Given the description of an element on the screen output the (x, y) to click on. 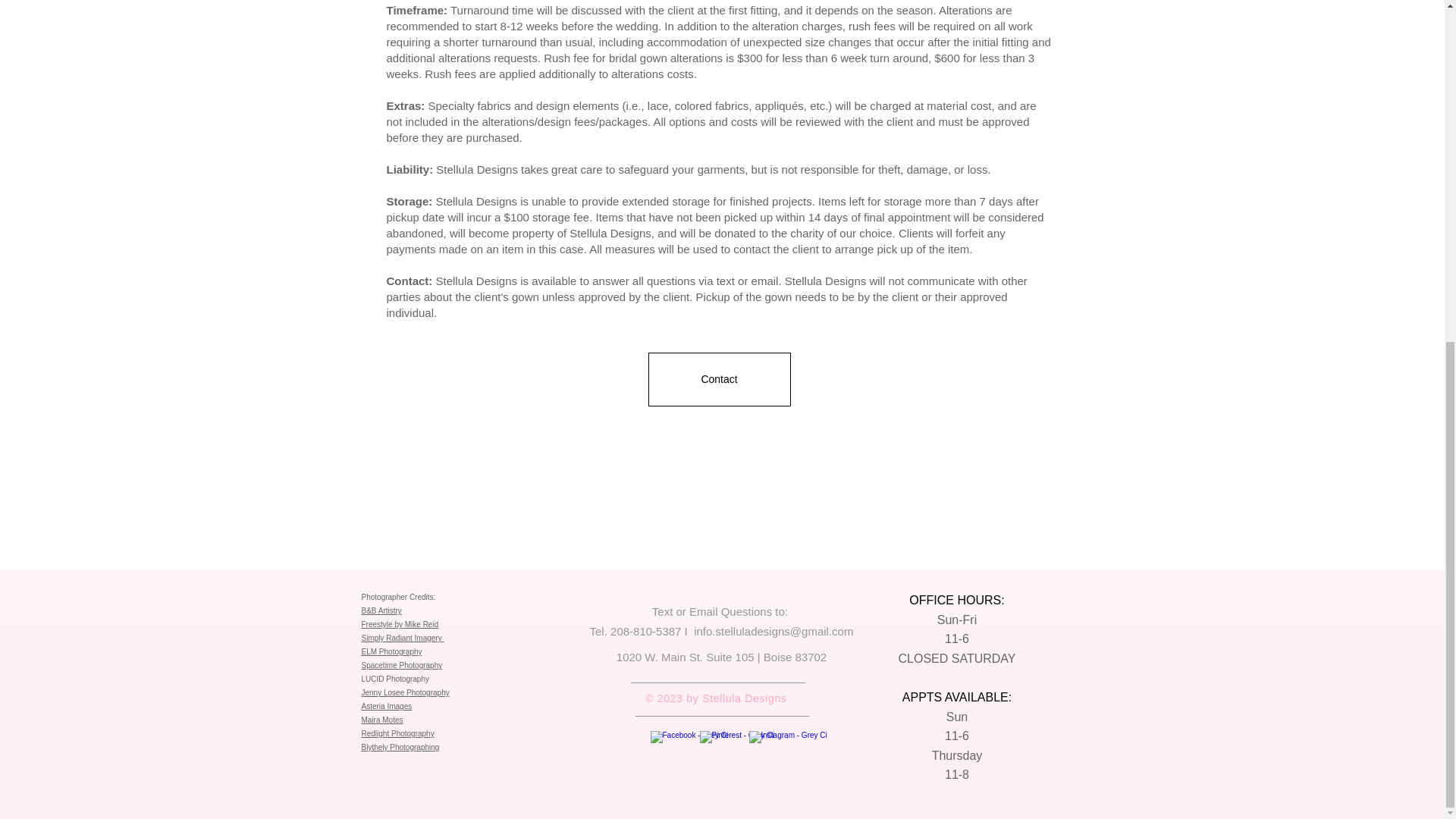
Asteria Images (386, 705)
Blythely Photographing (400, 746)
ELM Photography (391, 651)
Maira Motes (382, 719)
Spacetime Photography (401, 664)
Freestyle by Mike Reid (399, 623)
Redlight Photography (397, 733)
Contact (718, 379)
Simply Radiant Imagery  (402, 637)
Jenny Losee Photography (404, 692)
